Given the description of an element on the screen output the (x, y) to click on. 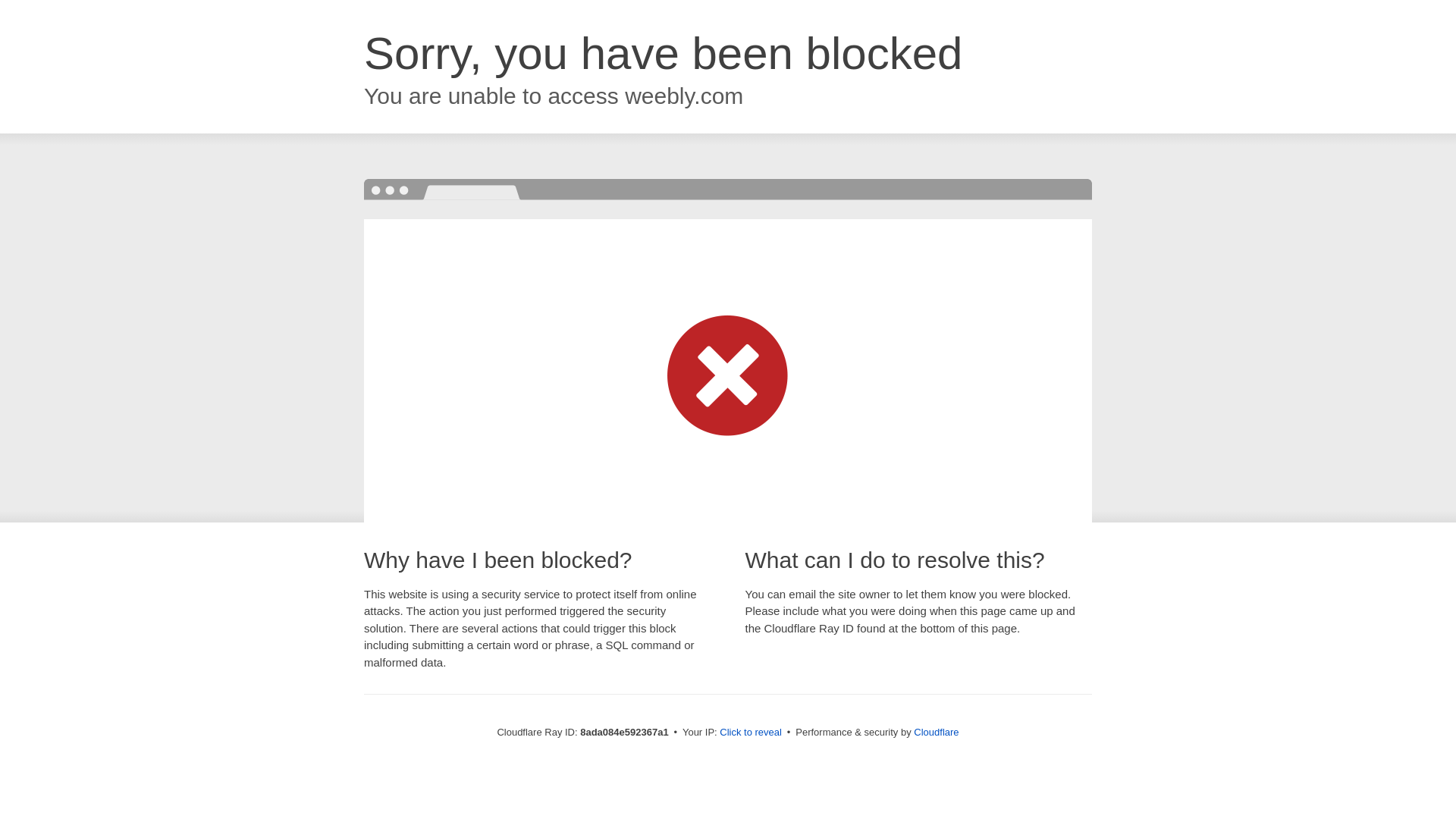
Cloudflare (936, 731)
Click to reveal (750, 732)
